Given the description of an element on the screen output the (x, y) to click on. 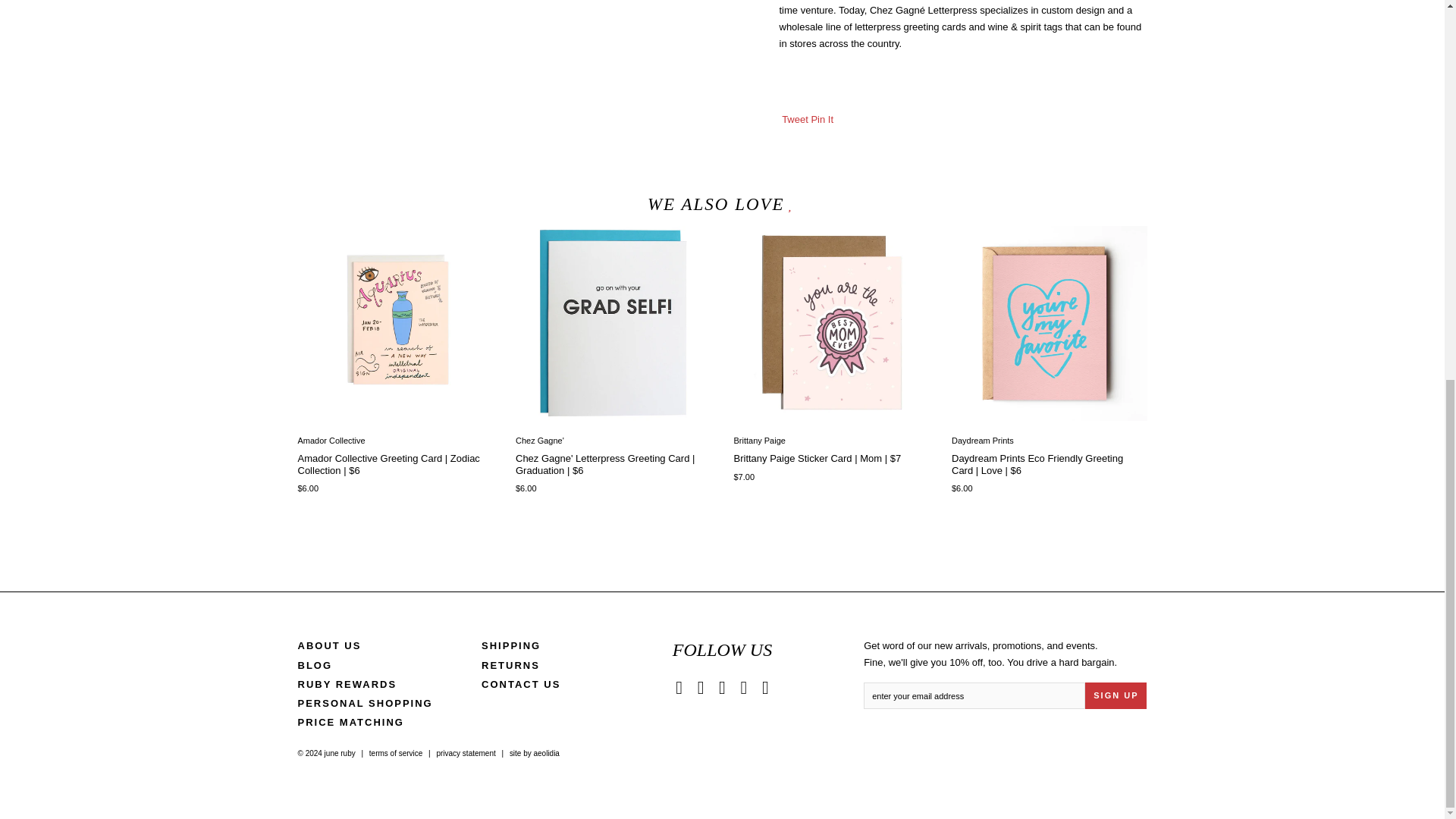
SIGN UP (1115, 695)
